Given the description of an element on the screen output the (x, y) to click on. 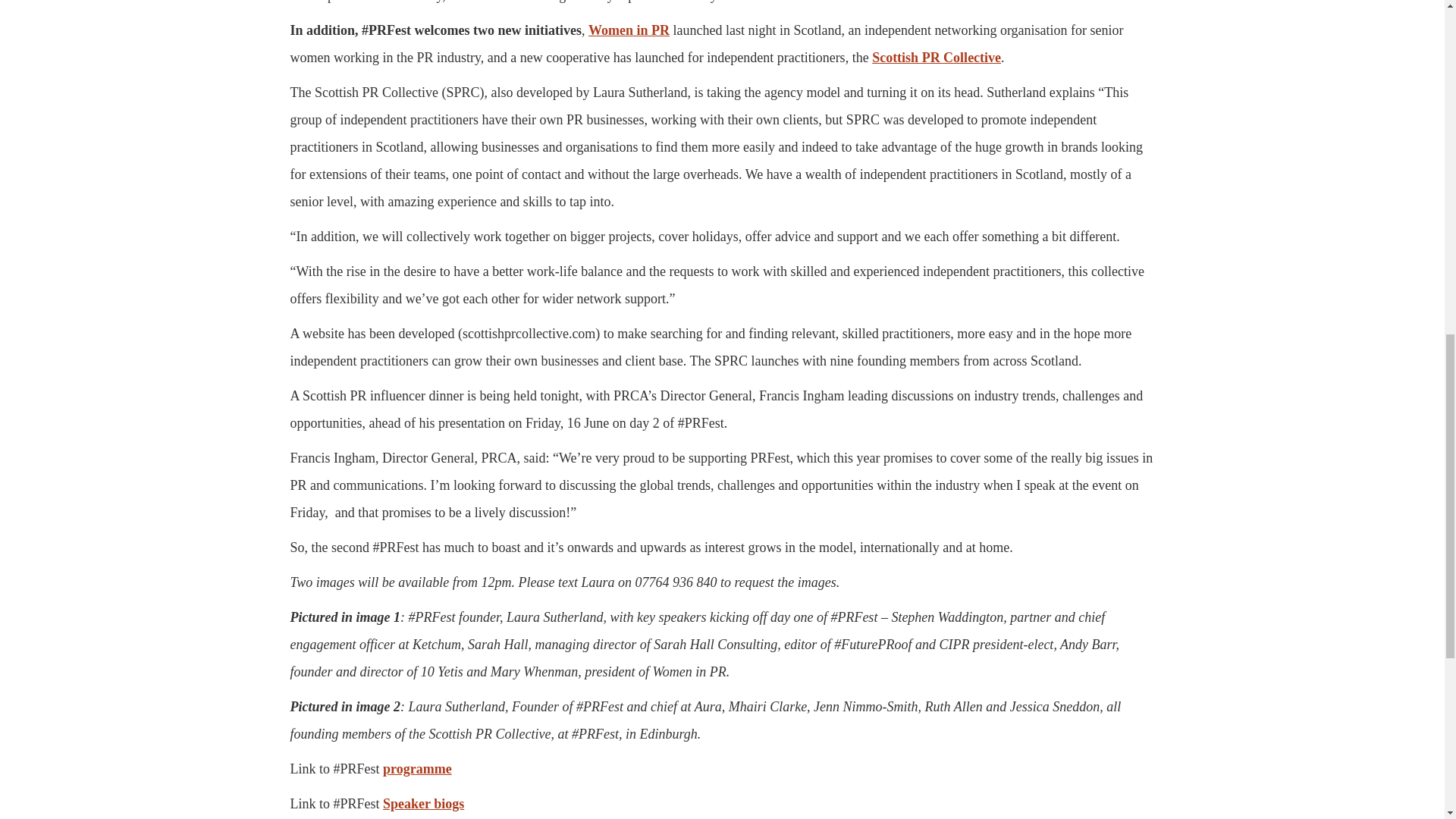
Women in PR (628, 29)
Speaker biogs (423, 803)
programme (416, 768)
Scottish PR Collective (936, 57)
